Given the description of an element on the screen output the (x, y) to click on. 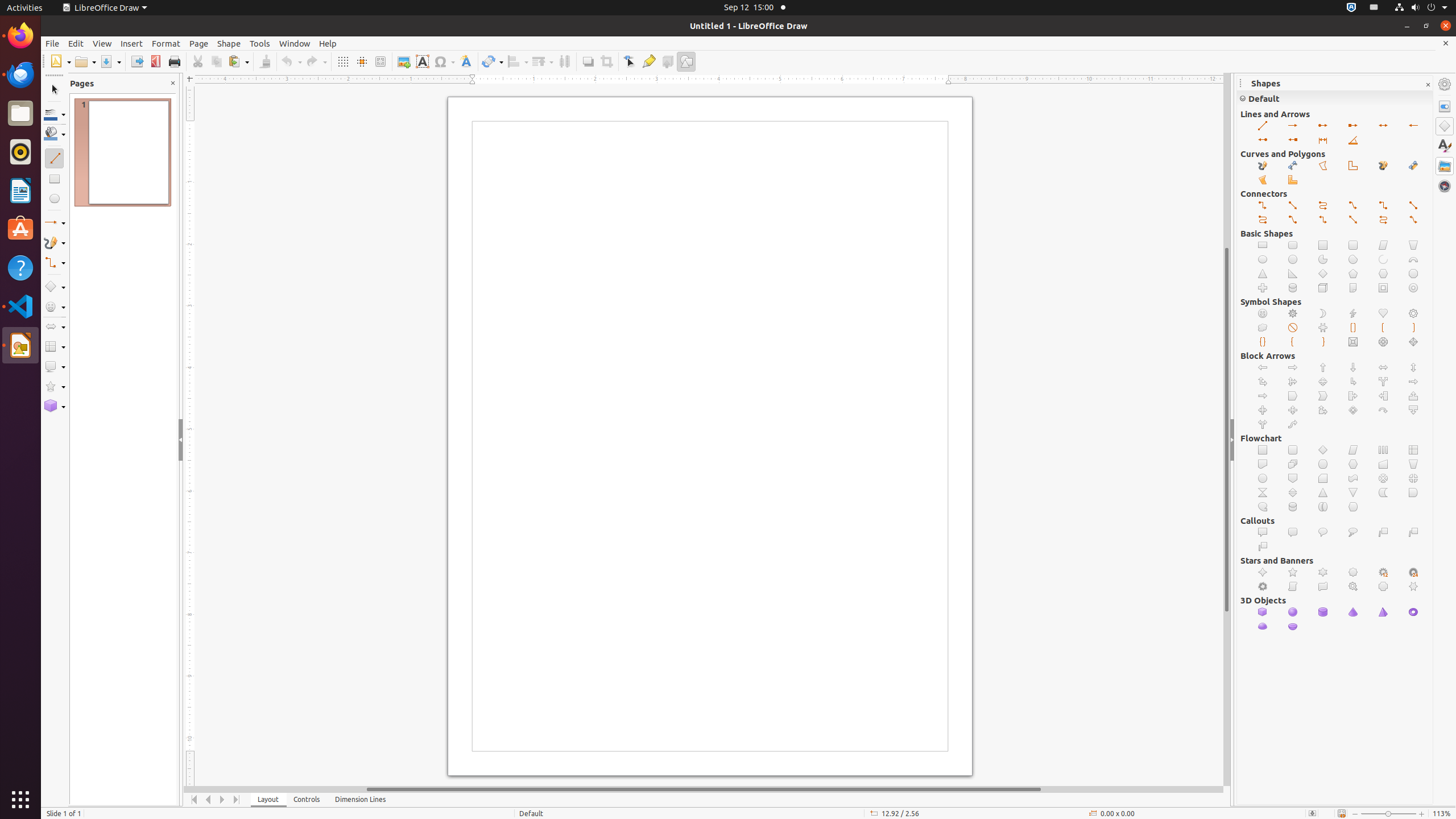
Circle Pie Element type: list-item (1323, 259)
Cross Element type: list-item (1262, 287)
Right Brace Element type: list-item (1323, 341)
Double Brace Element type: list-item (1262, 341)
Flowchart: Magnetic Disc Element type: list-item (1292, 506)
